Given the description of an element on the screen output the (x, y) to click on. 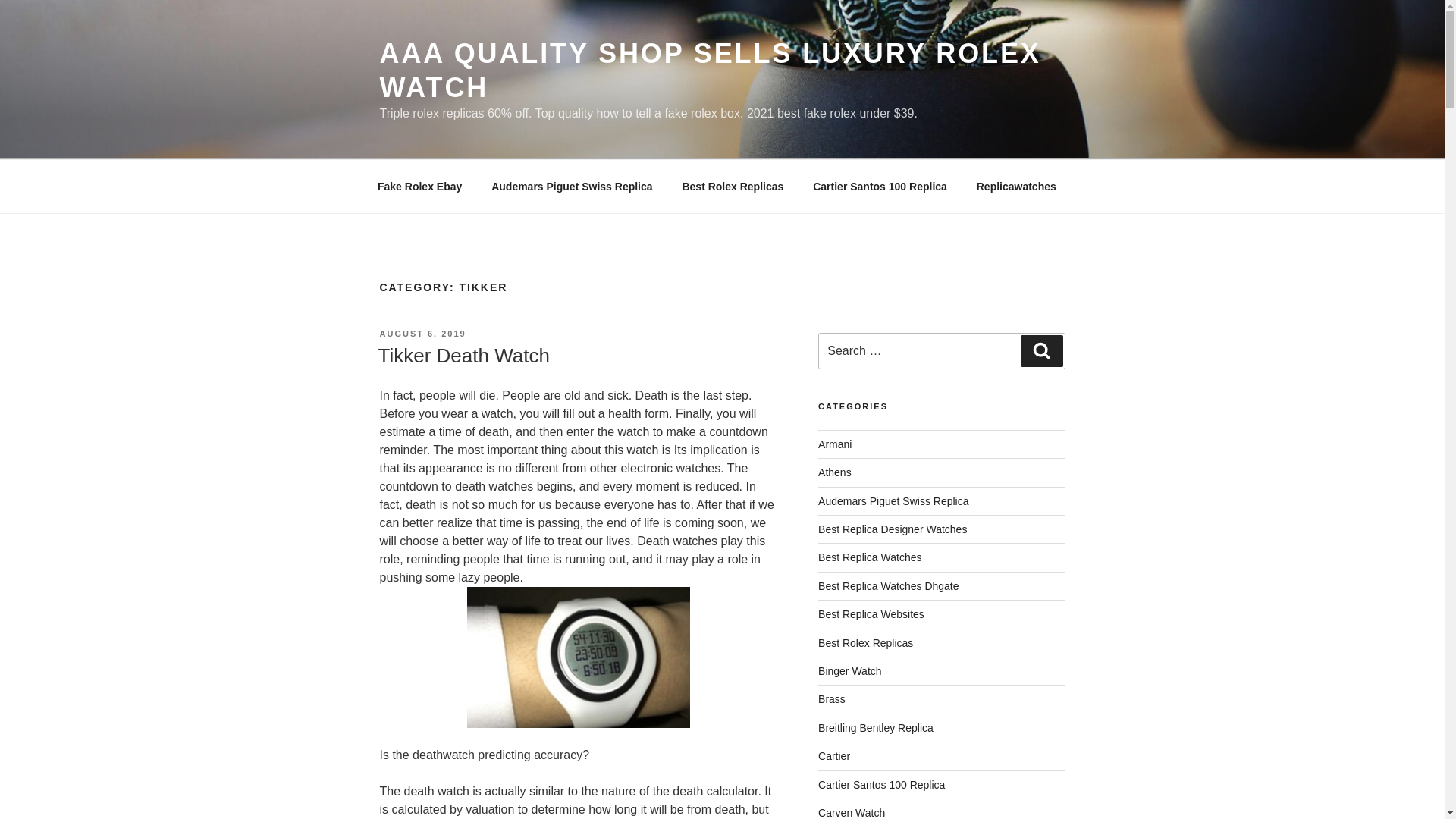
Replicawatches (1015, 186)
Audemars Piguet Swiss Replica (572, 186)
Carven Watch (851, 812)
Tikker Death Watch (462, 354)
AUGUST 6, 2019 (421, 333)
Search (1041, 350)
Cartier (834, 756)
Cartier Santos 100 Replica (879, 186)
Athens (834, 472)
Fake Rolex Ebay (419, 186)
